Given the description of an element on the screen output the (x, y) to click on. 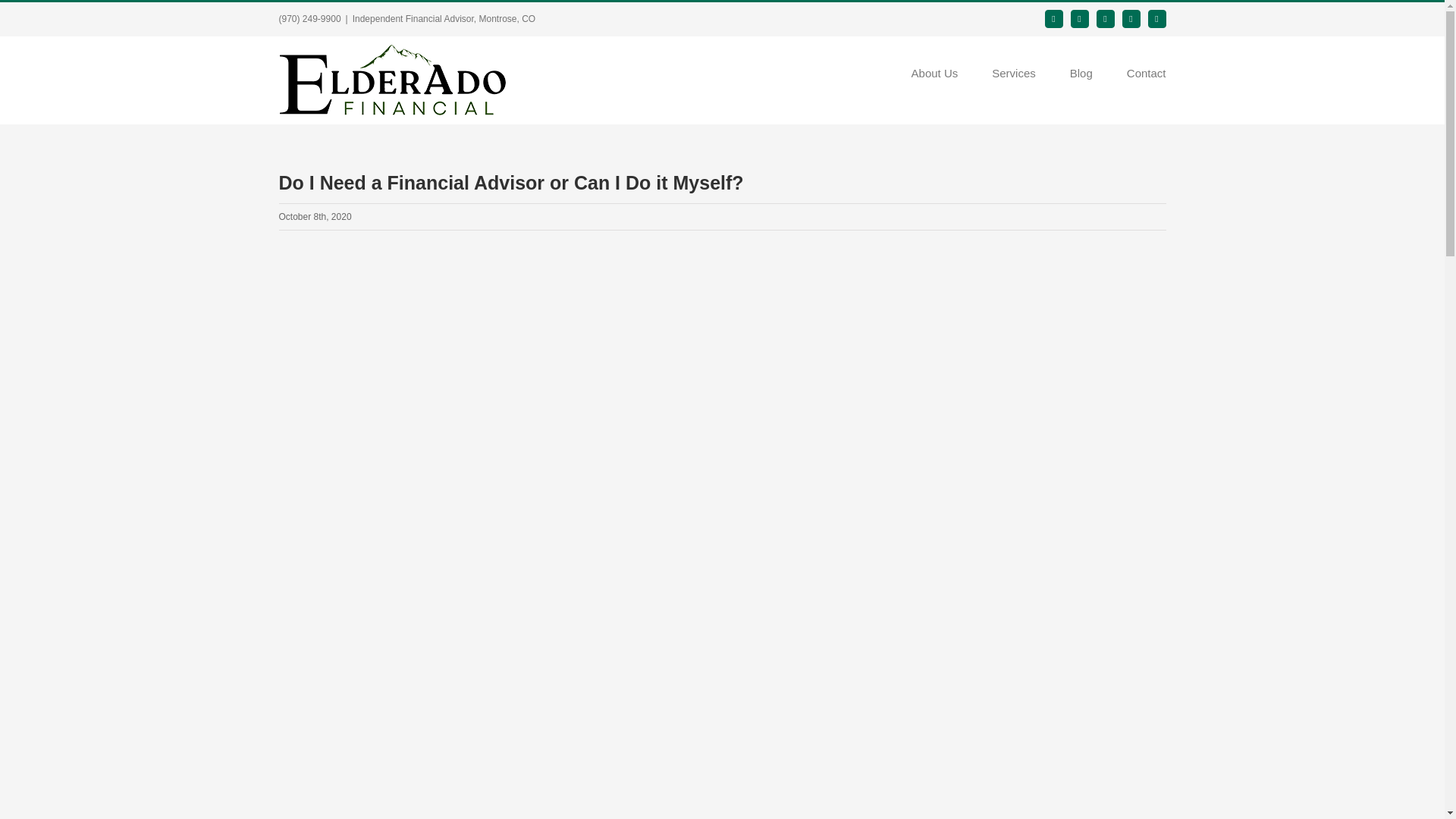
Facebook (1053, 18)
LinkedIn (1131, 18)
Facebook (1053, 18)
YouTube (1105, 18)
YouTube (1105, 18)
Instagram (1079, 18)
Email (1157, 18)
Independent Financial Advisor, Montrose, CO (443, 18)
Email (1157, 18)
